Given the description of an element on the screen output the (x, y) to click on. 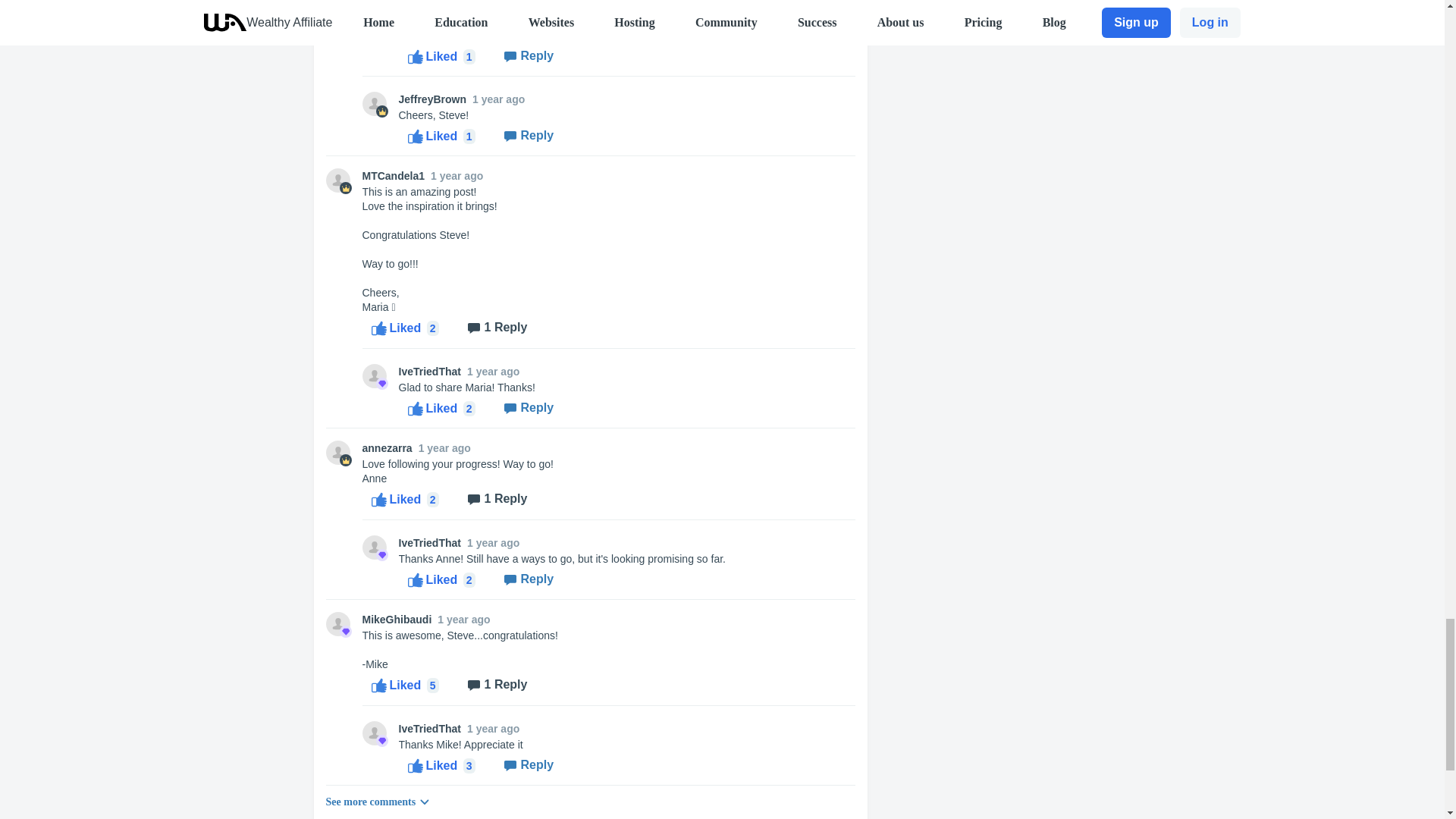
Fri, 01 Sep 2023 21:28:15 GMT (493, 542)
Fri, 01 Sep 2023 20:19:06 GMT (456, 175)
Fri, 01 Sep 2023 18:31:02 GMT (493, 728)
Fri, 01 Sep 2023 21:28:23 GMT (493, 371)
Fri, 01 Sep 2023 17:08:35 GMT (463, 619)
Sat, 02 Sep 2023 10:59:34 GMT (493, 19)
Sat, 02 Sep 2023 13:22:27 GMT (497, 99)
Fri, 01 Sep 2023 18:47:44 GMT (444, 448)
